Given the description of an element on the screen output the (x, y) to click on. 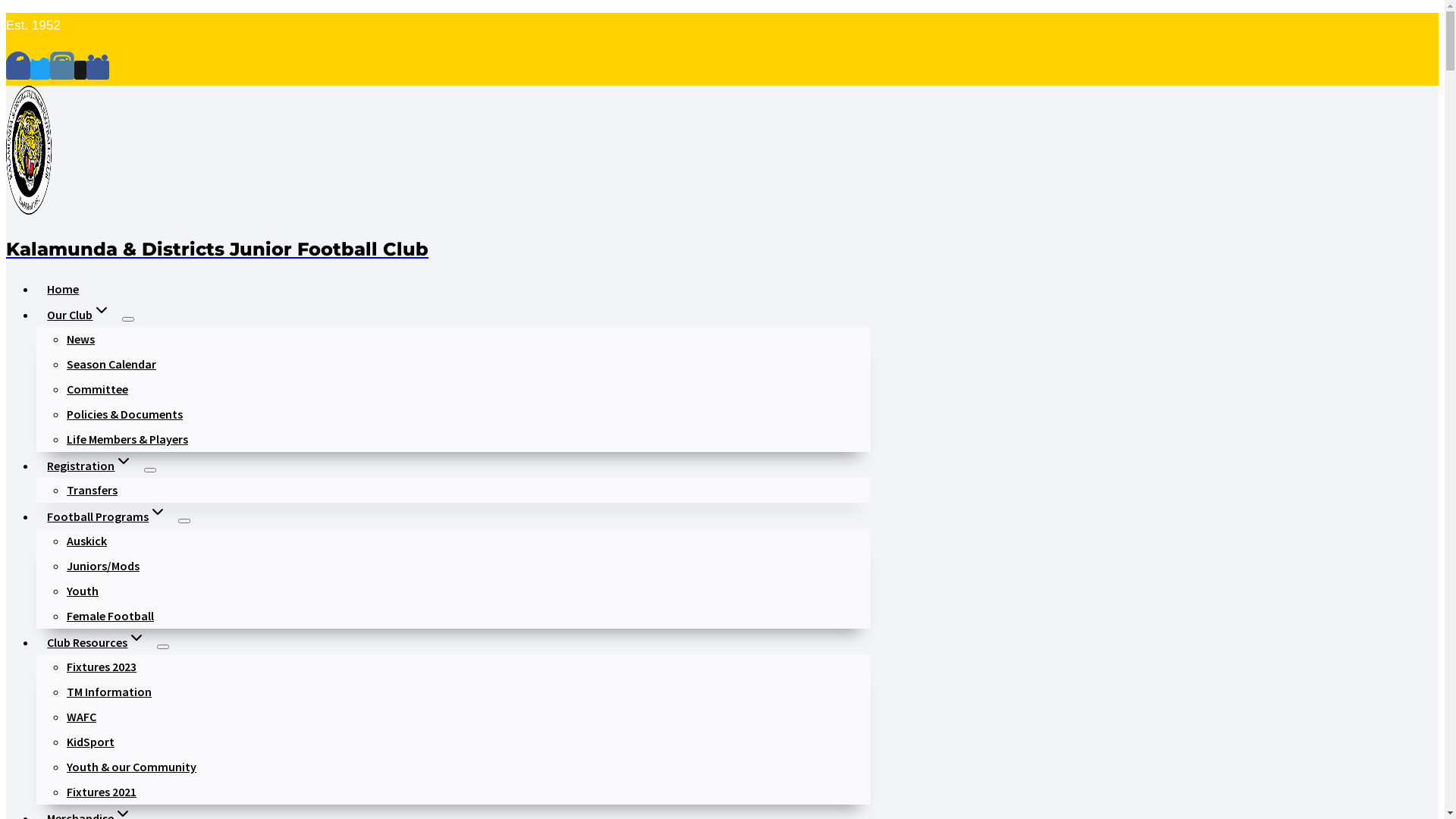
Transfers Element type: text (91, 489)
News Element type: text (80, 338)
Facebook Element type: text (18, 69)
Home Element type: text (63, 288)
Female Football Element type: text (109, 615)
Skip to content Element type: text (5, 12)
Twitter Element type: text (40, 69)
TM Information Element type: text (108, 691)
Kalamunda & Districts Junior Football Club Element type: text (438, 230)
Instagram Element type: text (62, 69)
Our ClubExpand Element type: text (79, 314)
Life Members & Players Element type: text (127, 438)
Football ProgramsExpand Element type: text (107, 516)
Youth & our Community Element type: text (131, 766)
Fixtures 2023 Element type: text (101, 665)
Auskick Element type: text (86, 540)
Committee Element type: text (97, 388)
KidSport Element type: text (90, 741)
Juniors/Mods Element type: text (102, 565)
Season Calendar Element type: text (111, 363)
RegistrationExpand Element type: text (90, 465)
Email Element type: text (80, 69)
WAFC Element type: text (81, 716)
Club ResourcesExpand Element type: text (96, 641)
Youth Element type: text (82, 590)
Policies & Documents Element type: text (124, 413)
Fixtures 2021 Element type: text (101, 791)
Facebook Group Element type: text (97, 69)
